Given the description of an element on the screen output the (x, y) to click on. 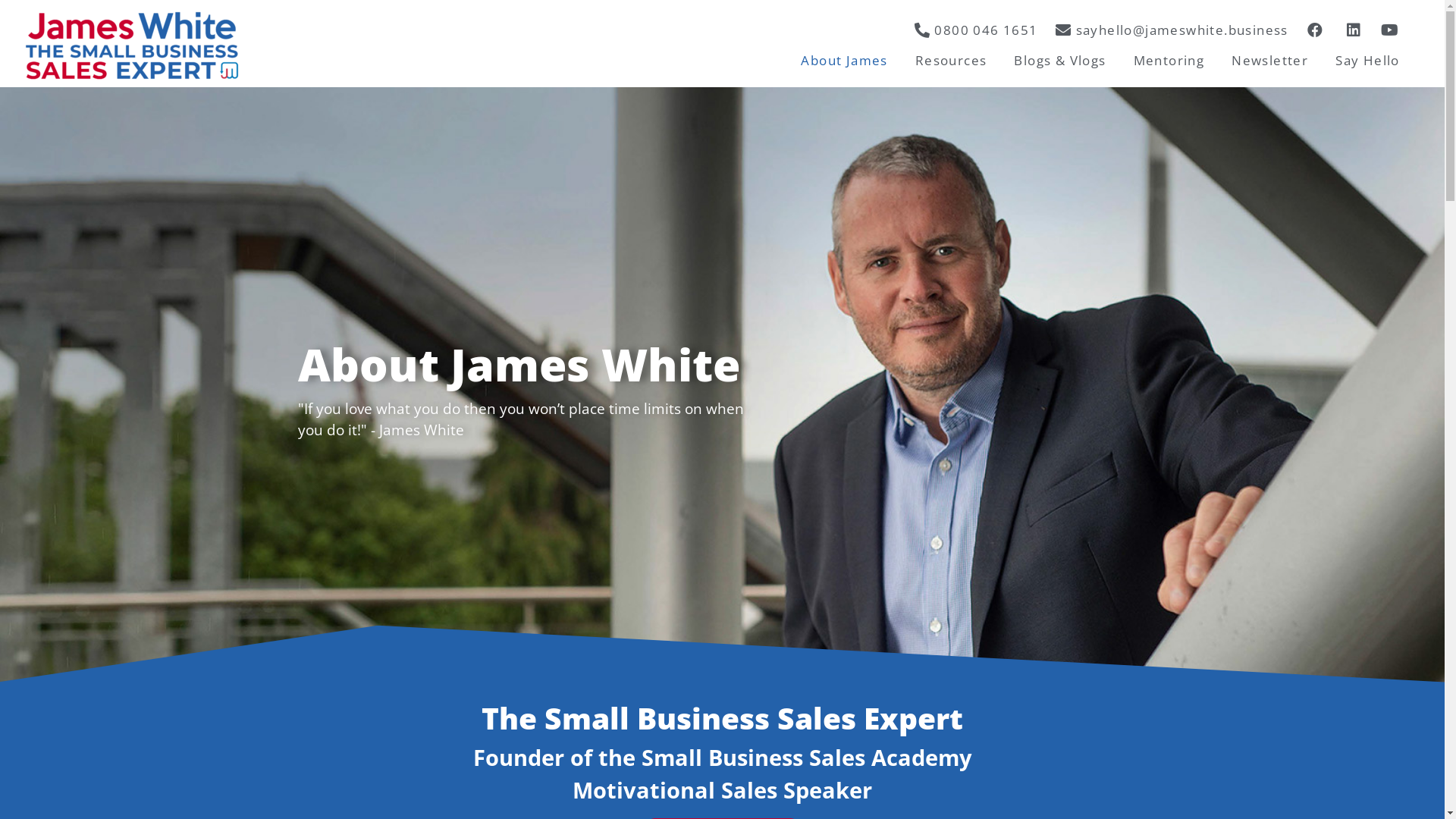
0800 046 1651 Element type: text (974, 29)
Say Hello Element type: text (1367, 59)
sayhello@jameswhite.business Element type: text (1170, 29)
Resources Element type: text (951, 59)
Newsletter Element type: text (1269, 59)
About James Element type: text (843, 59)
Mentoring Element type: text (1169, 59)
Blogs & Vlogs Element type: text (1059, 59)
